Given the description of an element on the screen output the (x, y) to click on. 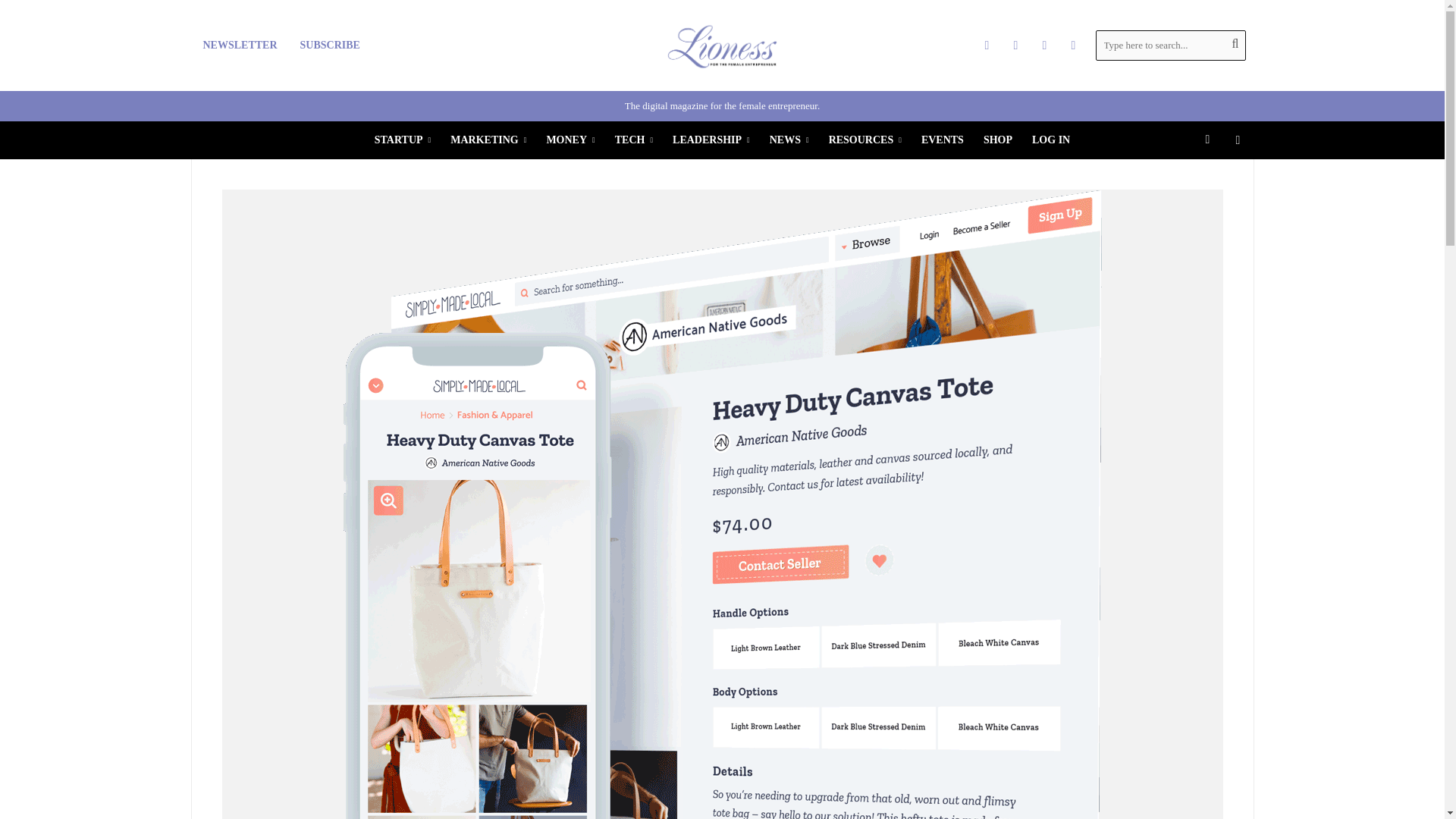
MARKETING (488, 139)
RESOURCES (864, 139)
SUBSCRIBE (329, 45)
STARTUP (403, 139)
NEWSLETTER (239, 45)
NEWS (789, 139)
TECH (633, 139)
LOG IN (1051, 139)
SHOP (998, 139)
LEADERSHIP (711, 139)
MONEY (569, 139)
EVENTS (942, 139)
